Given the description of an element on the screen output the (x, y) to click on. 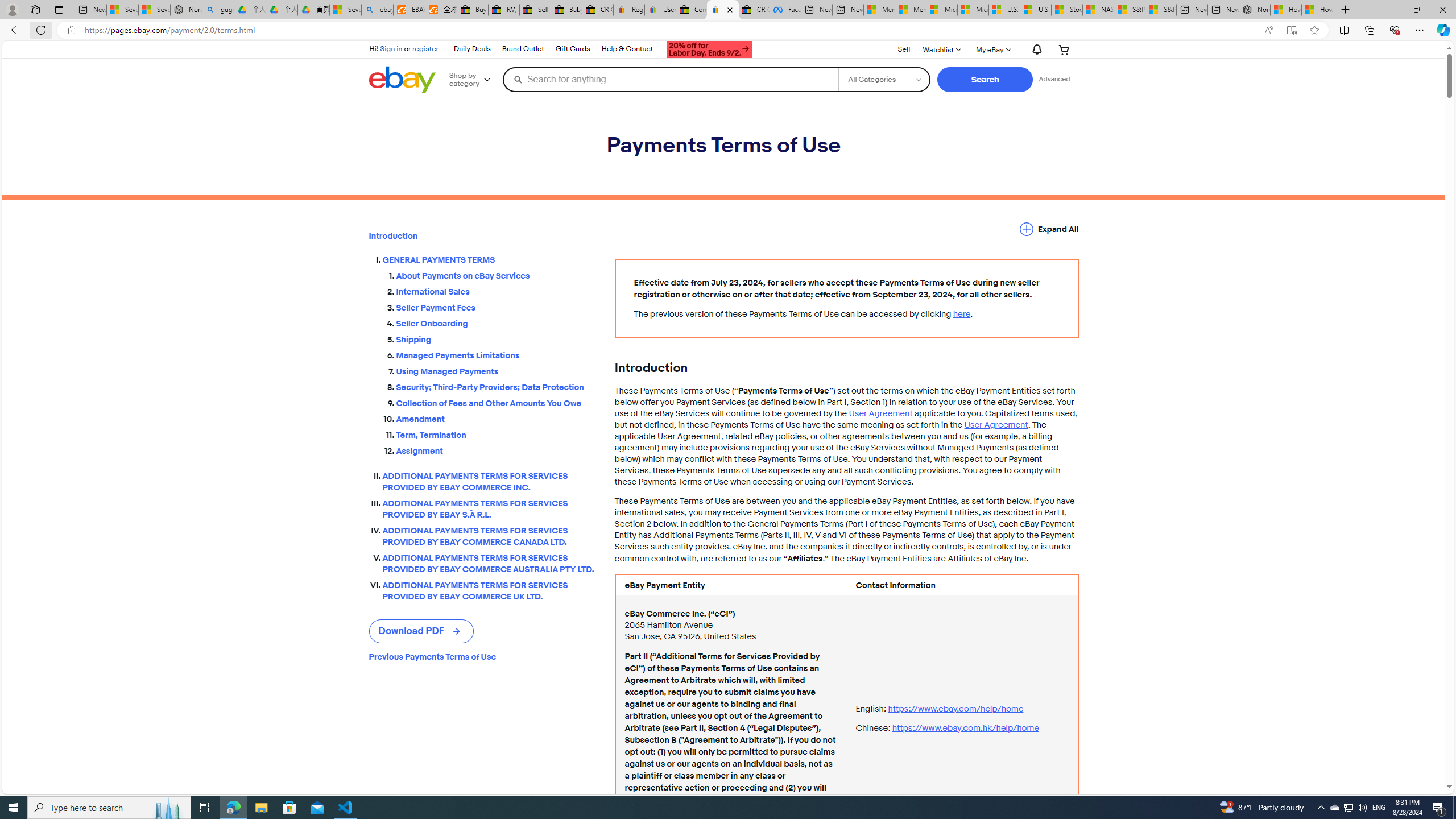
Seller Onboarding (496, 321)
Assignment (496, 451)
How to Use a Monitor With Your Closed Laptop (1317, 9)
Buy Auto Parts & Accessories | eBay (472, 9)
Sell (903, 49)
Collection of Fees and Other Amounts You Owe (496, 403)
Managed Payments Limitations (496, 355)
Enter Immersive Reader (F9) (1291, 29)
Shipping (496, 339)
AutomationID: gh-eb-Alerts (1035, 49)
